Given the description of an element on the screen output the (x, y) to click on. 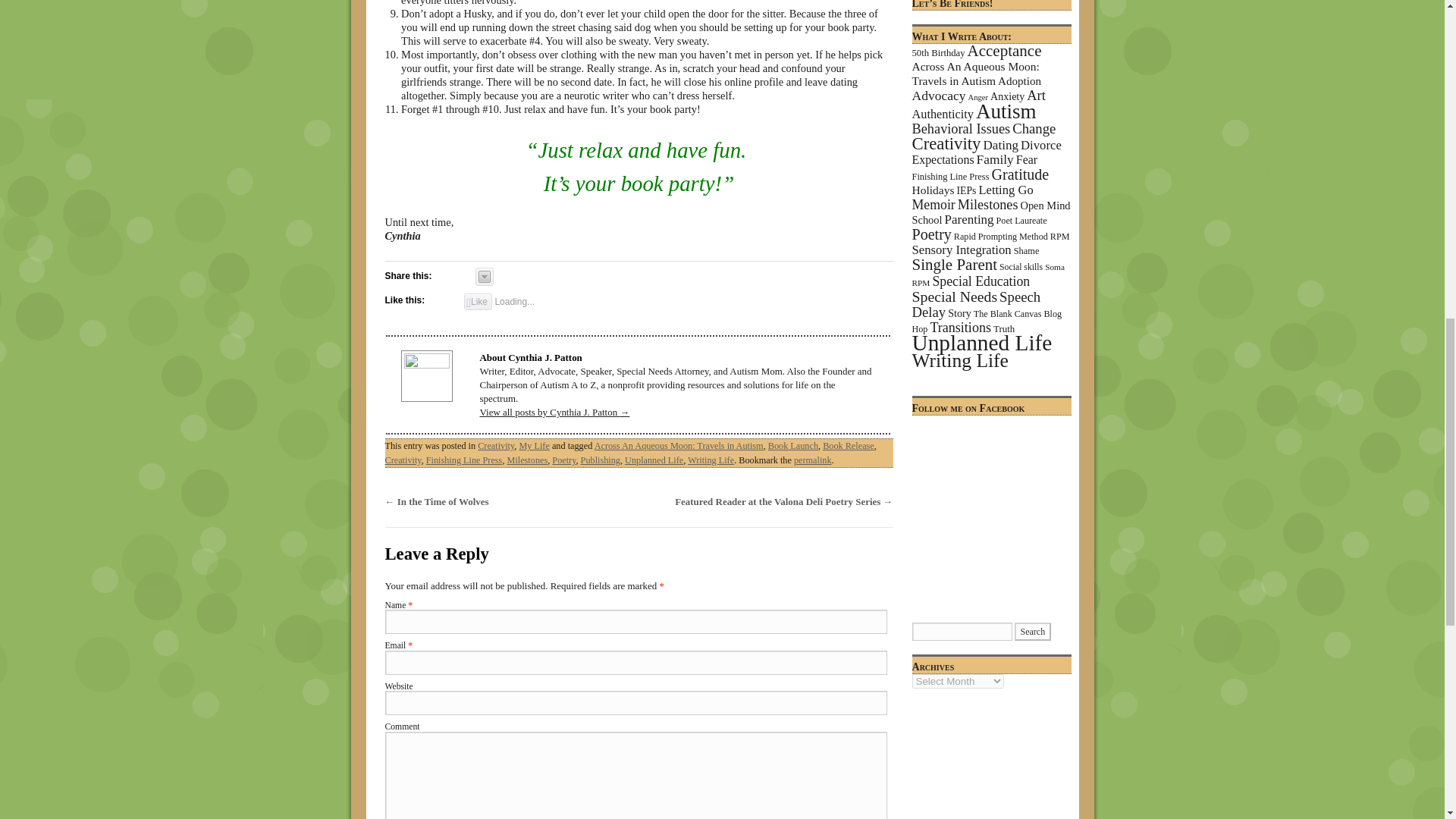
Book Launch (793, 445)
Search (1032, 631)
My Life (533, 445)
Creativity (495, 445)
Book Release (848, 445)
Share (484, 276)
Across An Aqueous Moon: Travels in Autism (678, 445)
